Given the description of an element on the screen output the (x, y) to click on. 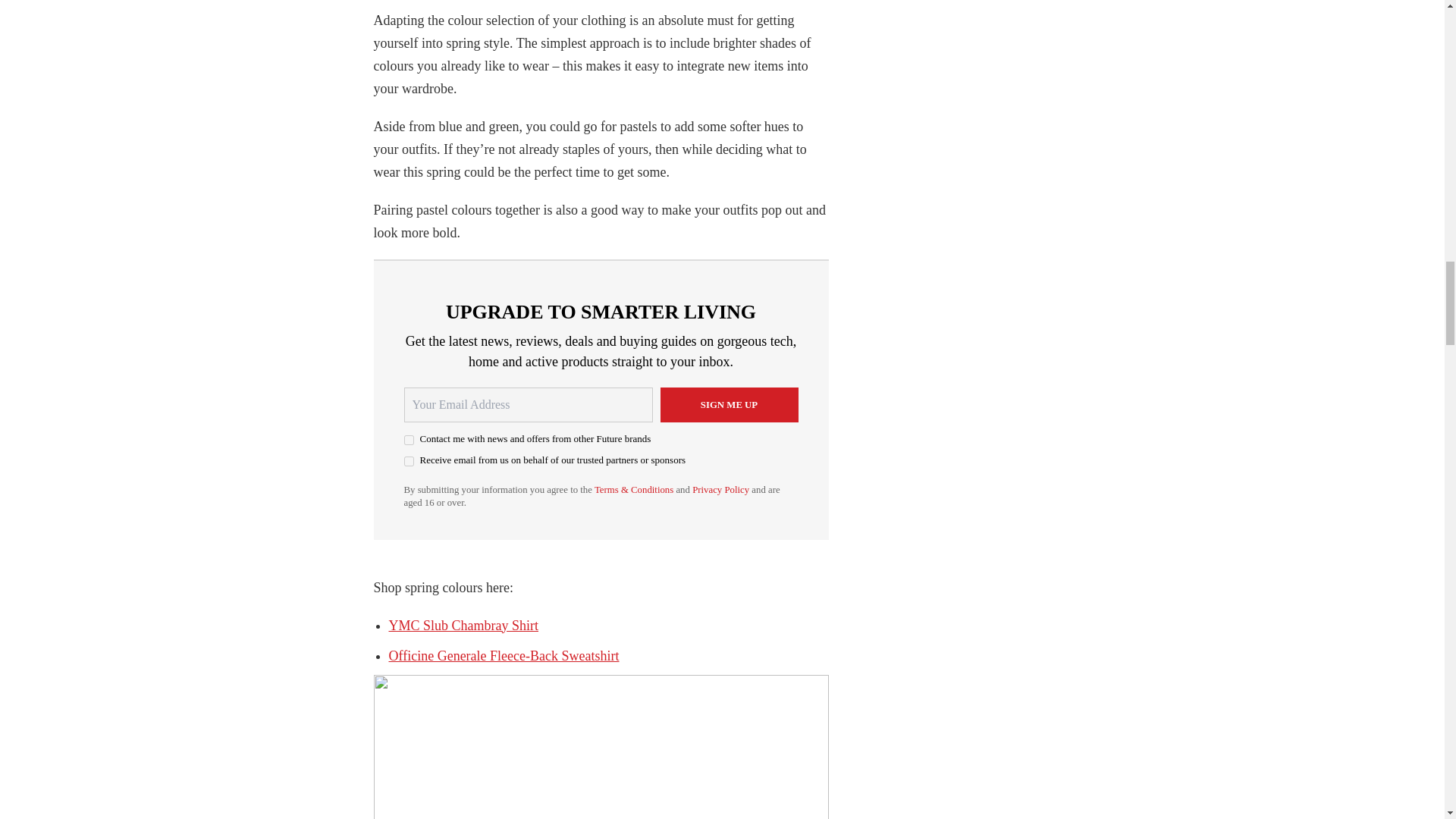
on (408, 439)
Sign me up (728, 404)
on (408, 461)
